Given the description of an element on the screen output the (x, y) to click on. 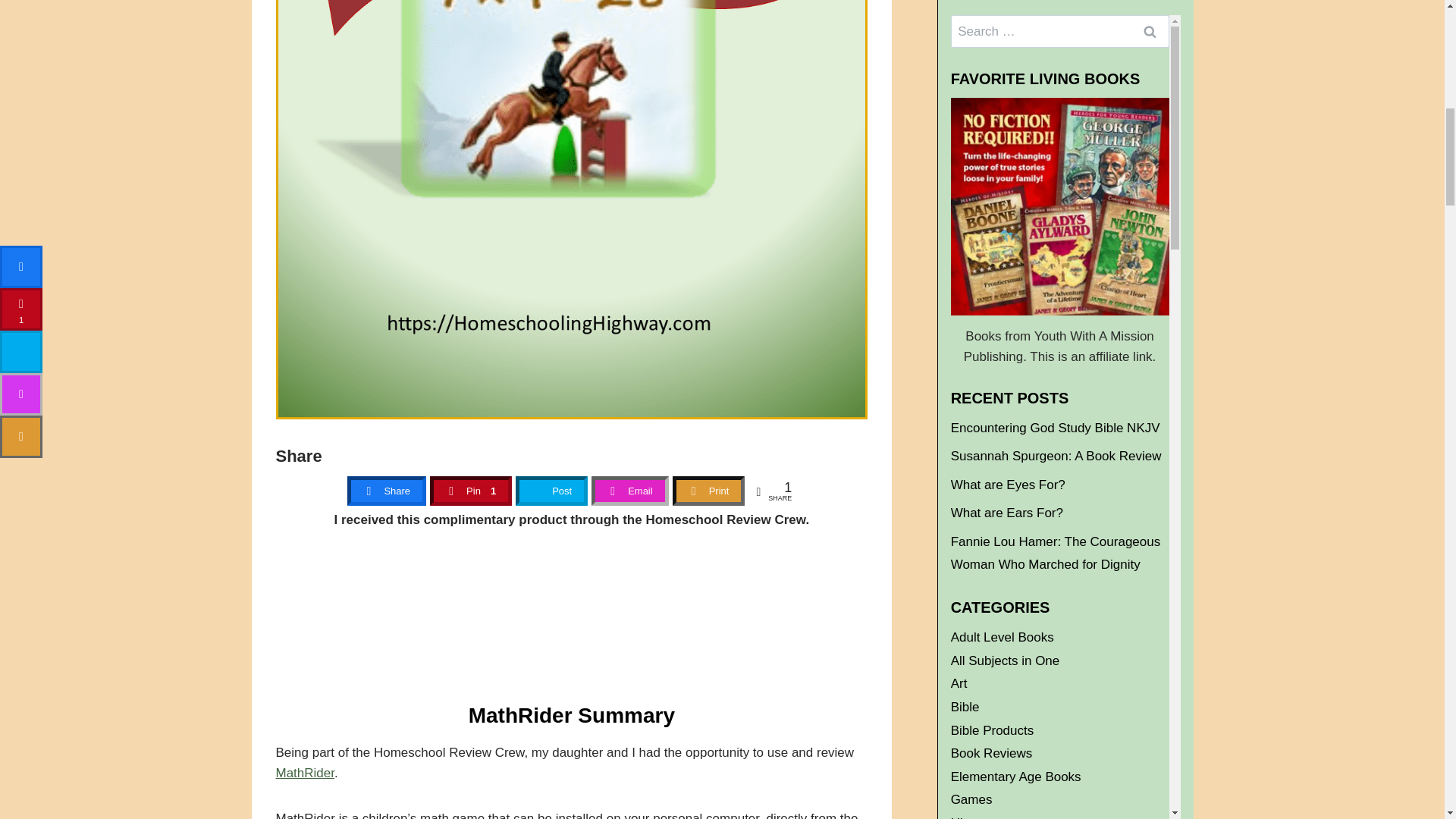
MathRider (305, 772)
Share (386, 490)
Post (551, 490)
Pin1 (470, 490)
Email (630, 490)
Print (709, 490)
